Given the description of an element on the screen output the (x, y) to click on. 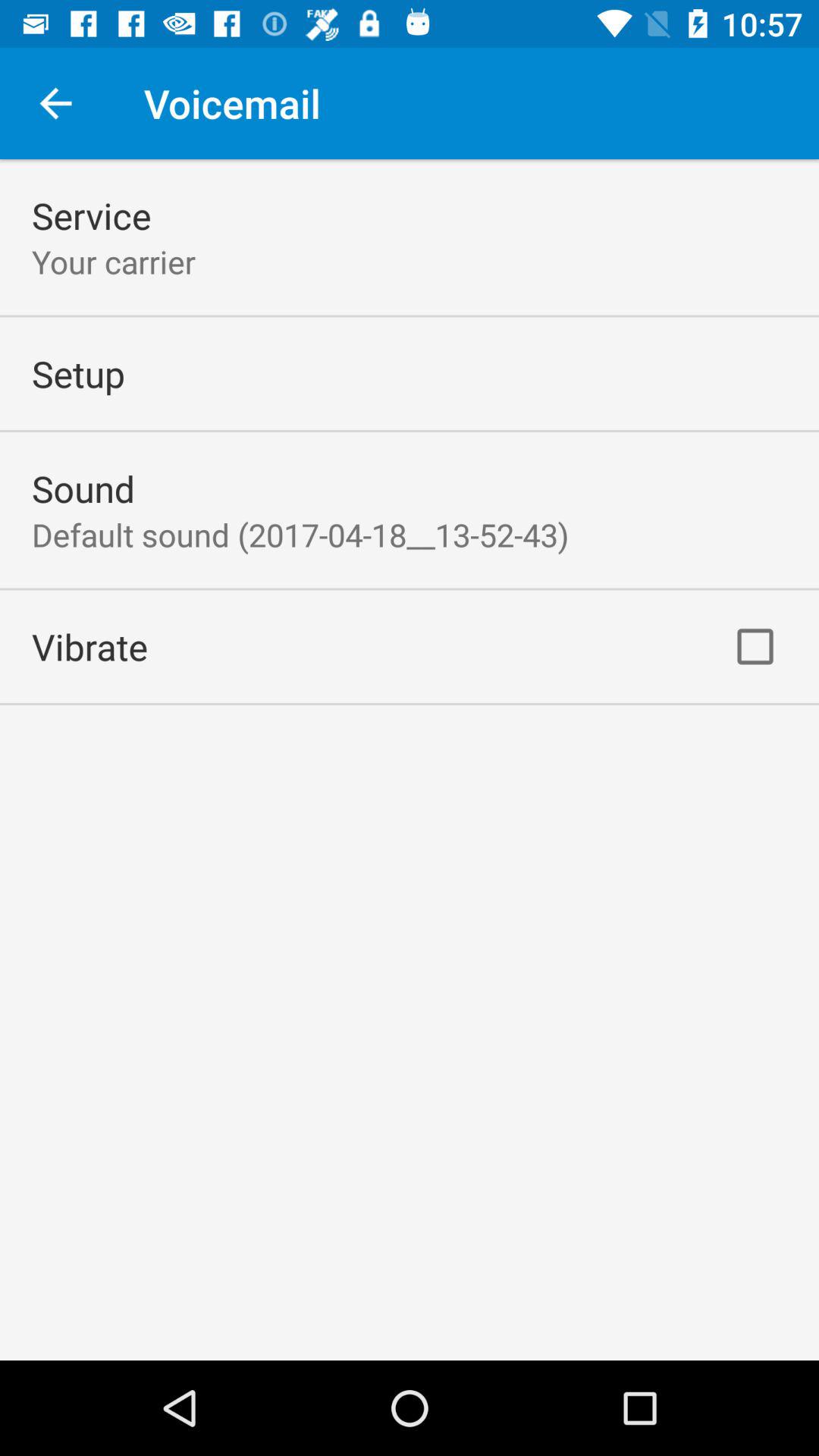
jump to setup app (78, 373)
